Given the description of an element on the screen output the (x, y) to click on. 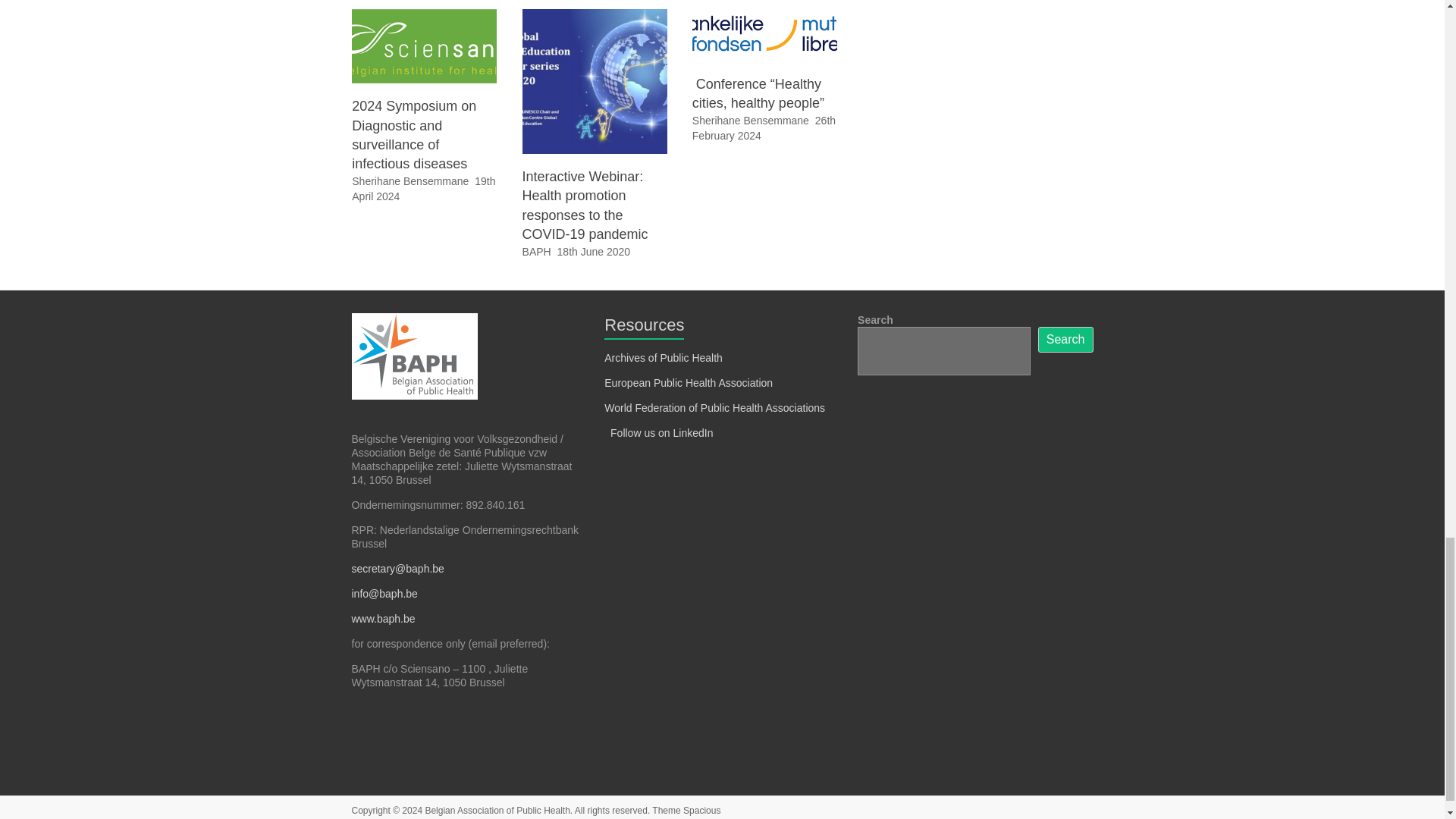
5:52 pm (423, 188)
7:10 pm (593, 251)
26th February 2024 (764, 127)
19th April 2024 (423, 188)
